Given the description of an element on the screen output the (x, y) to click on. 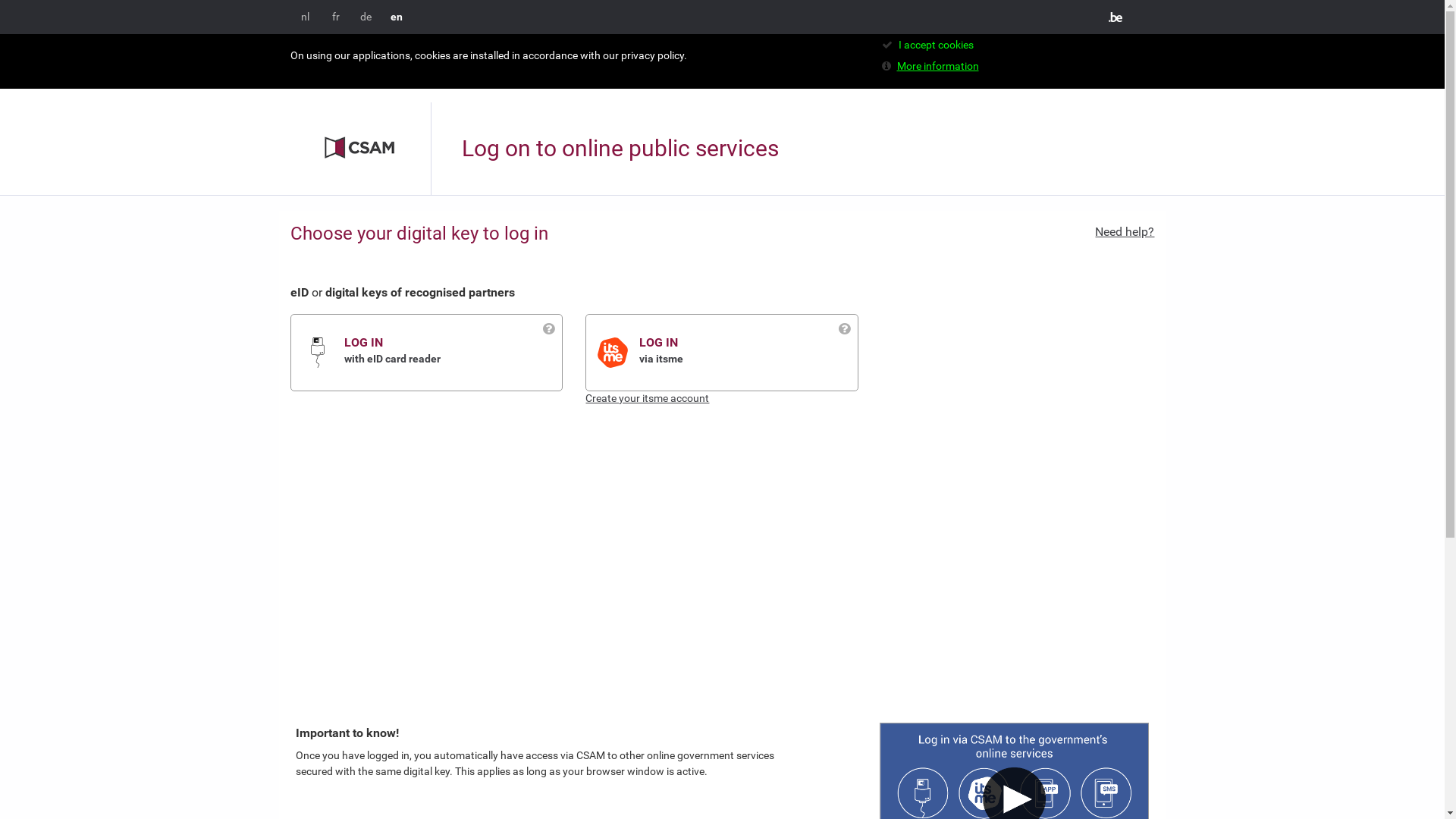
de Element type: text (365, 17)
en Element type: text (395, 17)
LOG IN
with eID card reader Element type: text (453, 351)
nl Element type: text (305, 17)
fr Element type: text (335, 17)
More information Element type: text (937, 65)
LOG IN
via itsme Element type: text (748, 351)
Create your itsme account Element type: text (647, 398)
Need help? Element type: text (1124, 231)
I accept cookies Element type: text (934, 44)
